Given the description of an element on the screen output the (x, y) to click on. 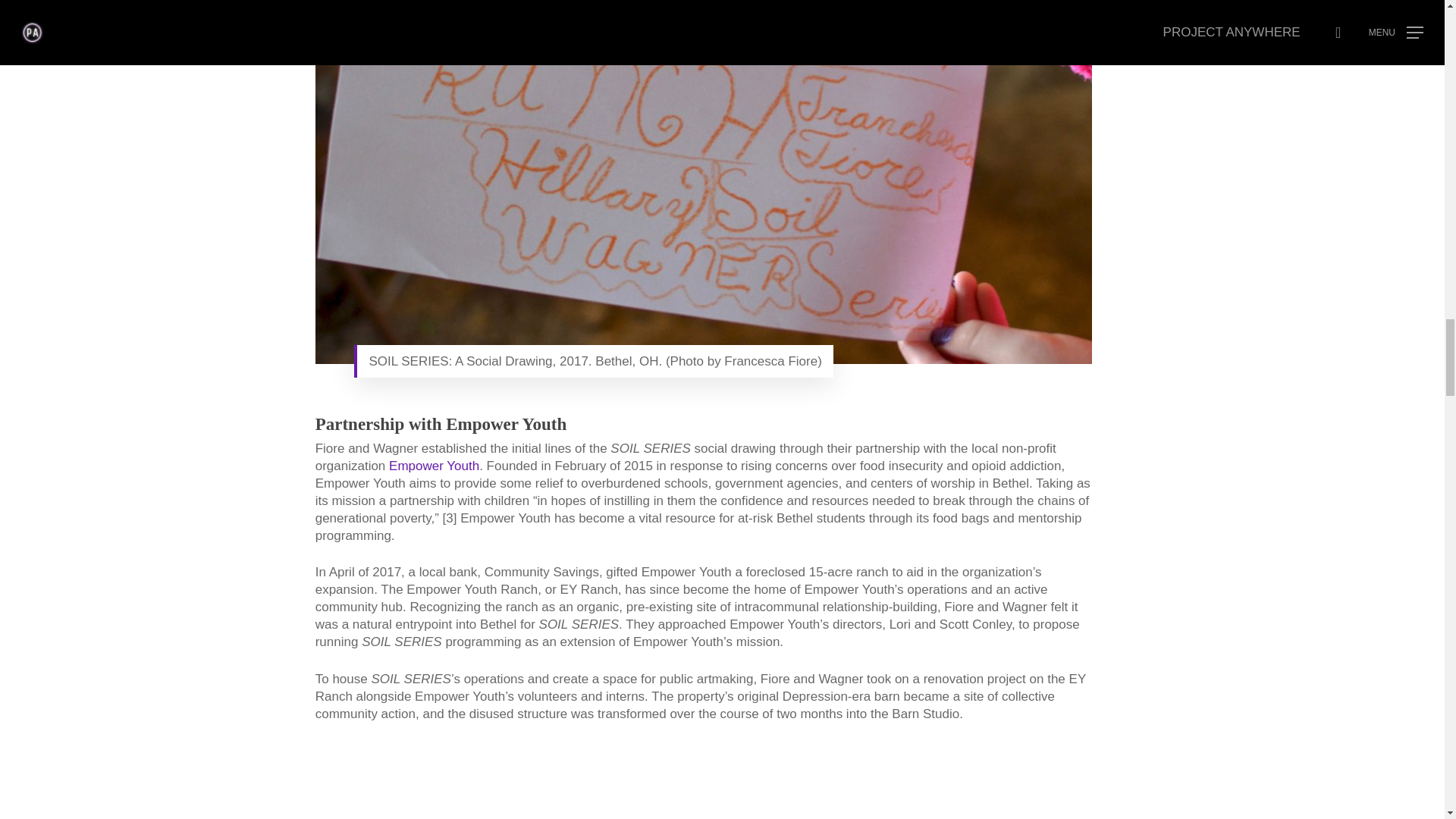
Empower Youth (433, 464)
